Given the description of an element on the screen output the (x, y) to click on. 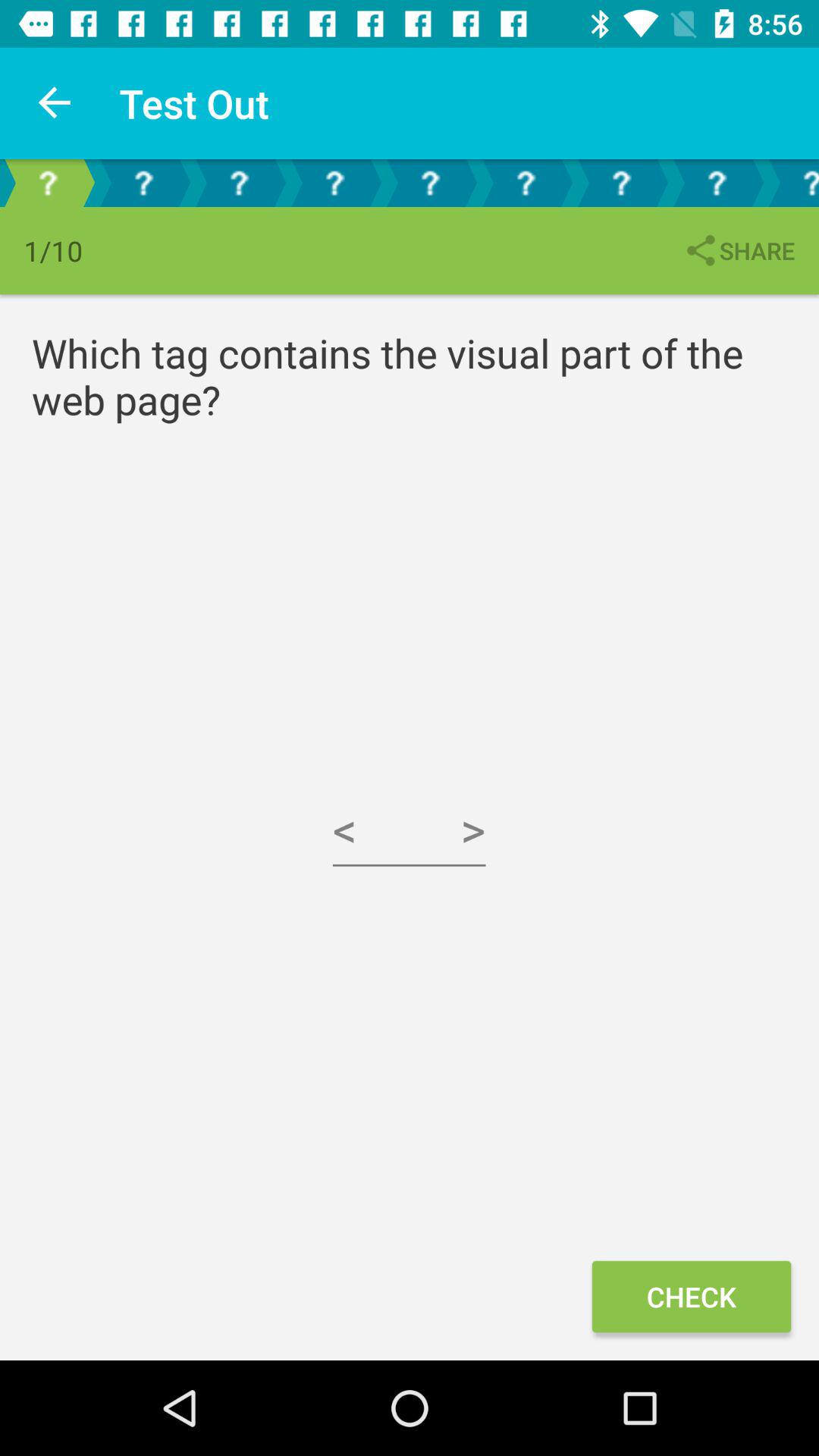
help option (143, 183)
